Given the description of an element on the screen output the (x, y) to click on. 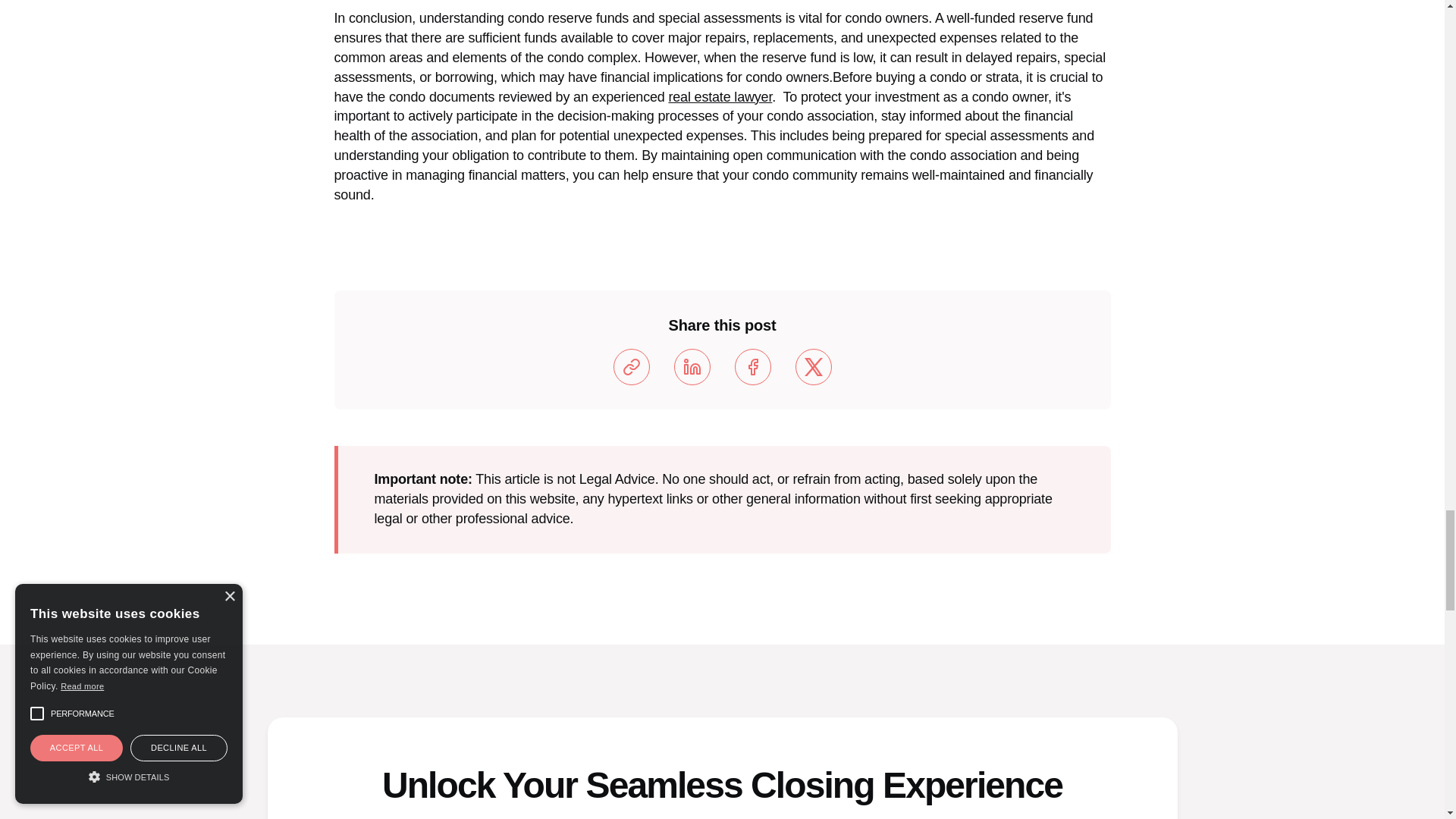
real estate lawyer (719, 96)
